Given the description of an element on the screen output the (x, y) to click on. 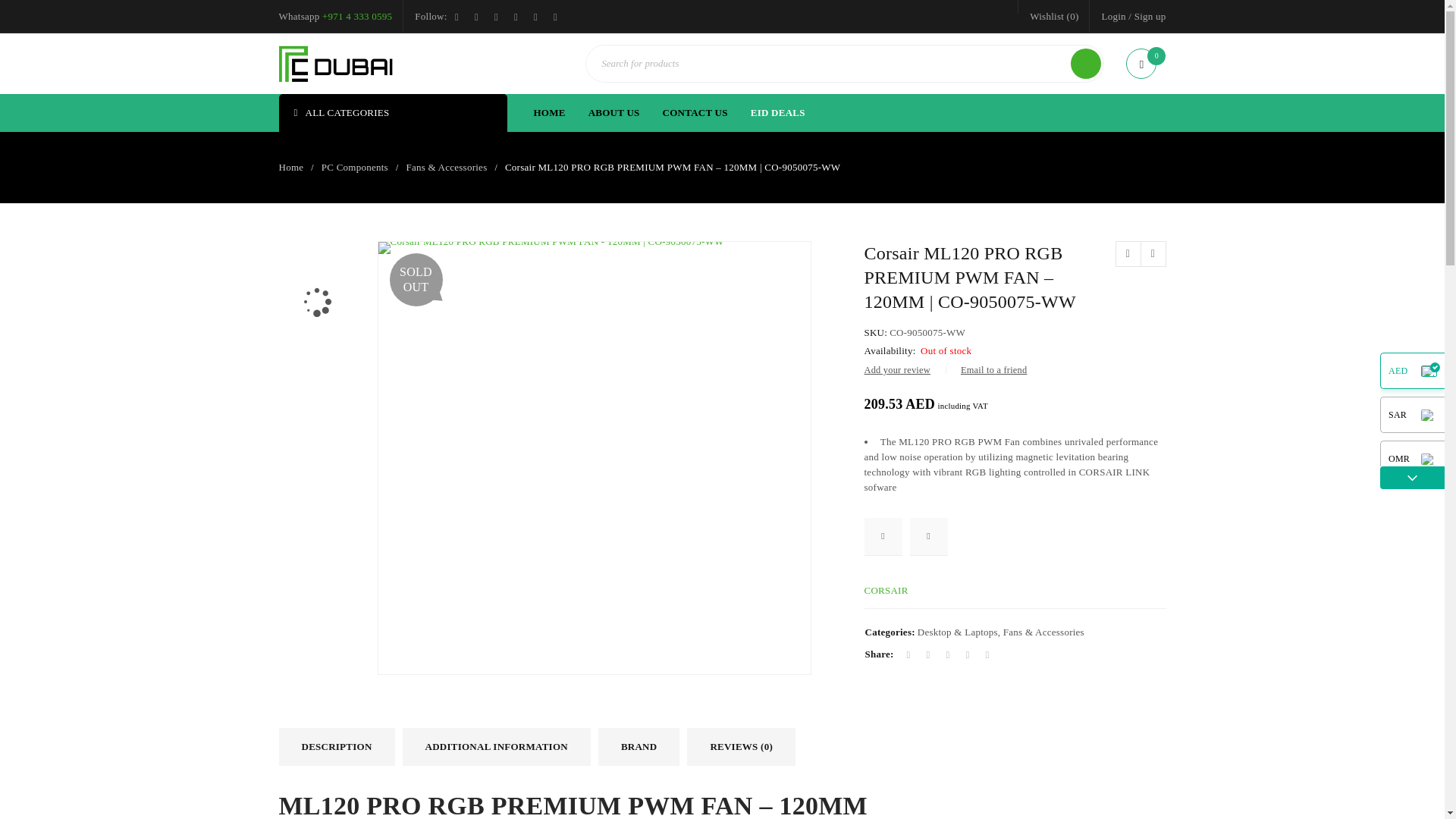
WhatsApp (356, 16)
PCDubai.com (336, 63)
images (316, 369)
Log in (371, 476)
Login (1112, 16)
View brand (886, 590)
Create New Account (1150, 16)
View your shopping bag (1145, 64)
Search (1085, 63)
Search (1085, 63)
